Given the description of an element on the screen output the (x, y) to click on. 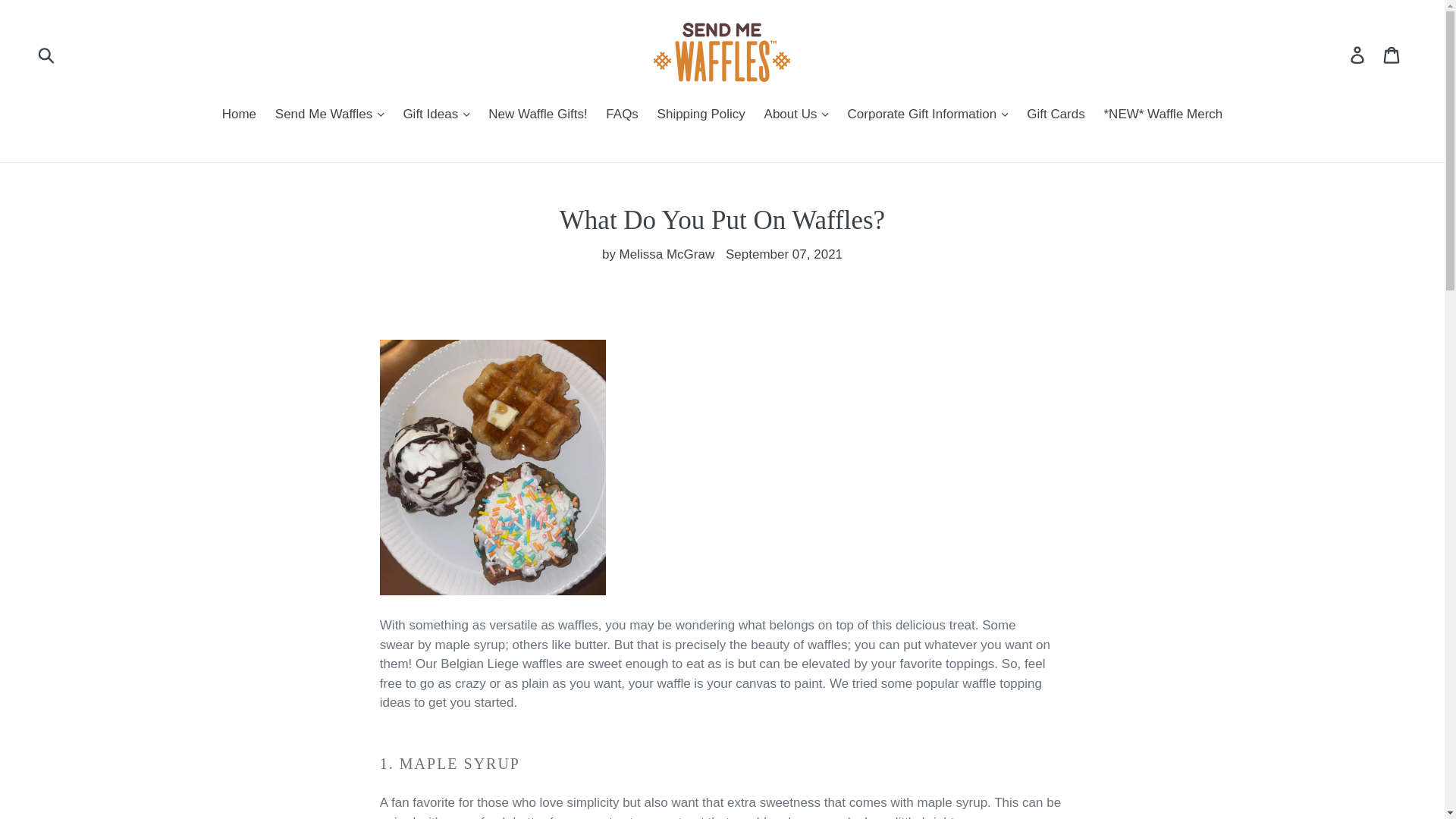
Log in (1357, 54)
Cart (1392, 54)
Submit (47, 54)
